Given the description of an element on the screen output the (x, y) to click on. 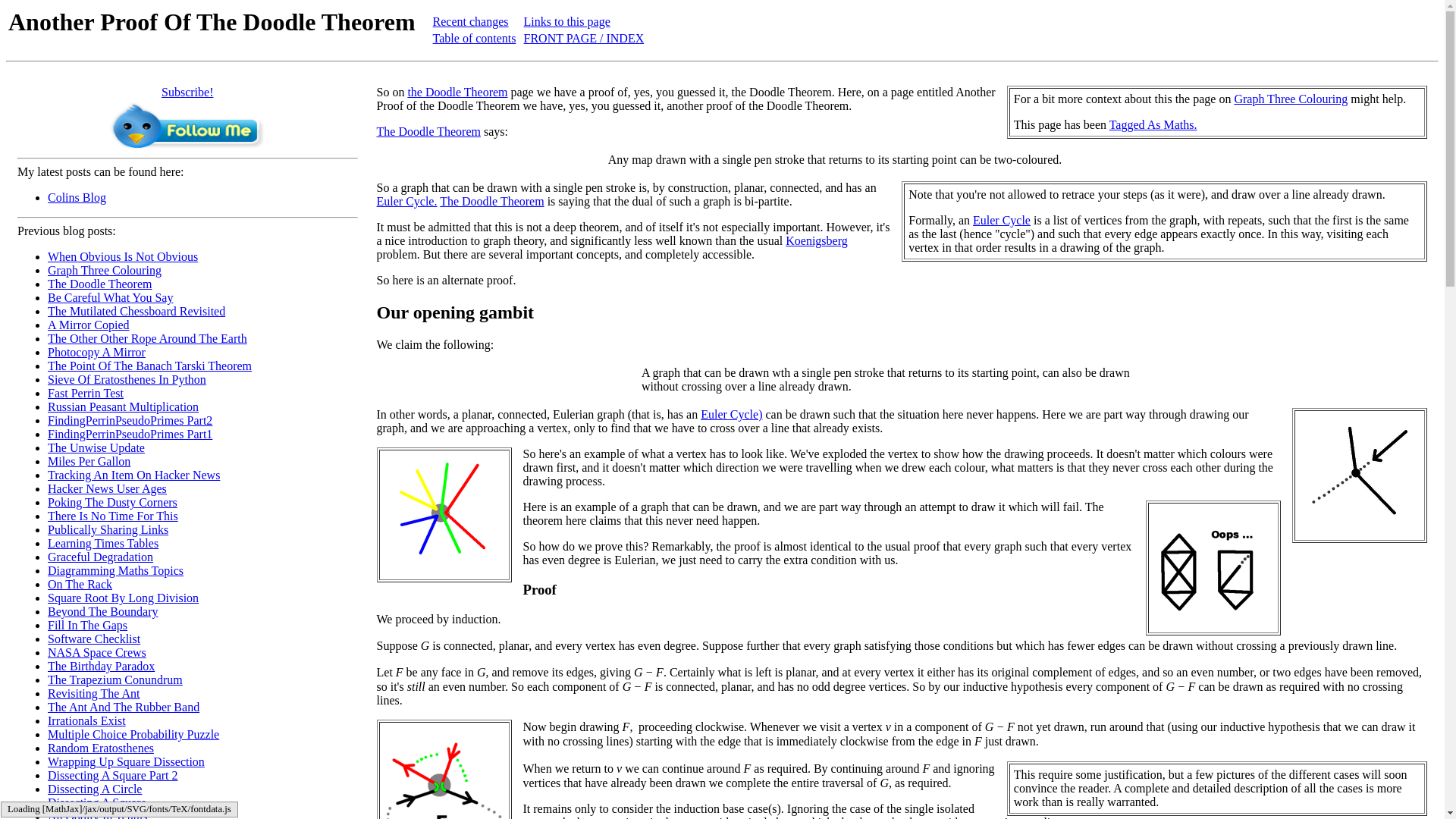
Recent changes (470, 21)
Tracking An Item On Hacker News (133, 474)
When Obvious Is Not Obvious (123, 256)
Graceful Degradation (100, 556)
Poking The Dusty Corners (112, 502)
Miles Per Gallon (89, 461)
Fast Perrin Test (85, 392)
Table of contents (474, 38)
The Birthday Paradox (101, 666)
FindingPerrinPseudoPrimes Part1 (130, 433)
Fill In The Gaps (88, 625)
The Doodle Theorem (99, 283)
Publically Sharing Links (108, 529)
Colins Blog (77, 196)
A Mirror Copied (88, 324)
